Given the description of an element on the screen output the (x, y) to click on. 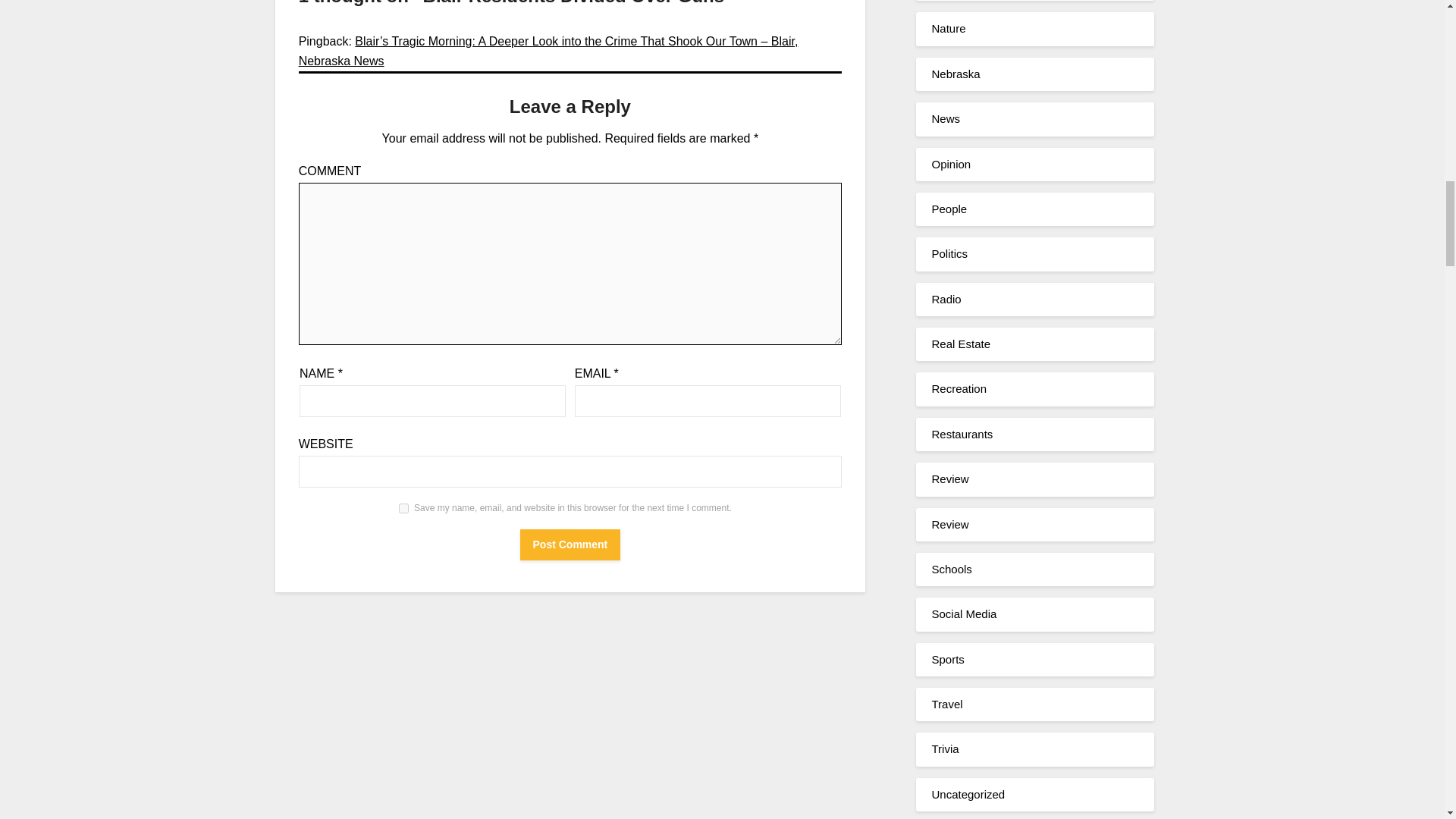
Post Comment (570, 544)
yes (403, 508)
Post Comment (570, 544)
